Given the description of an element on the screen output the (x, y) to click on. 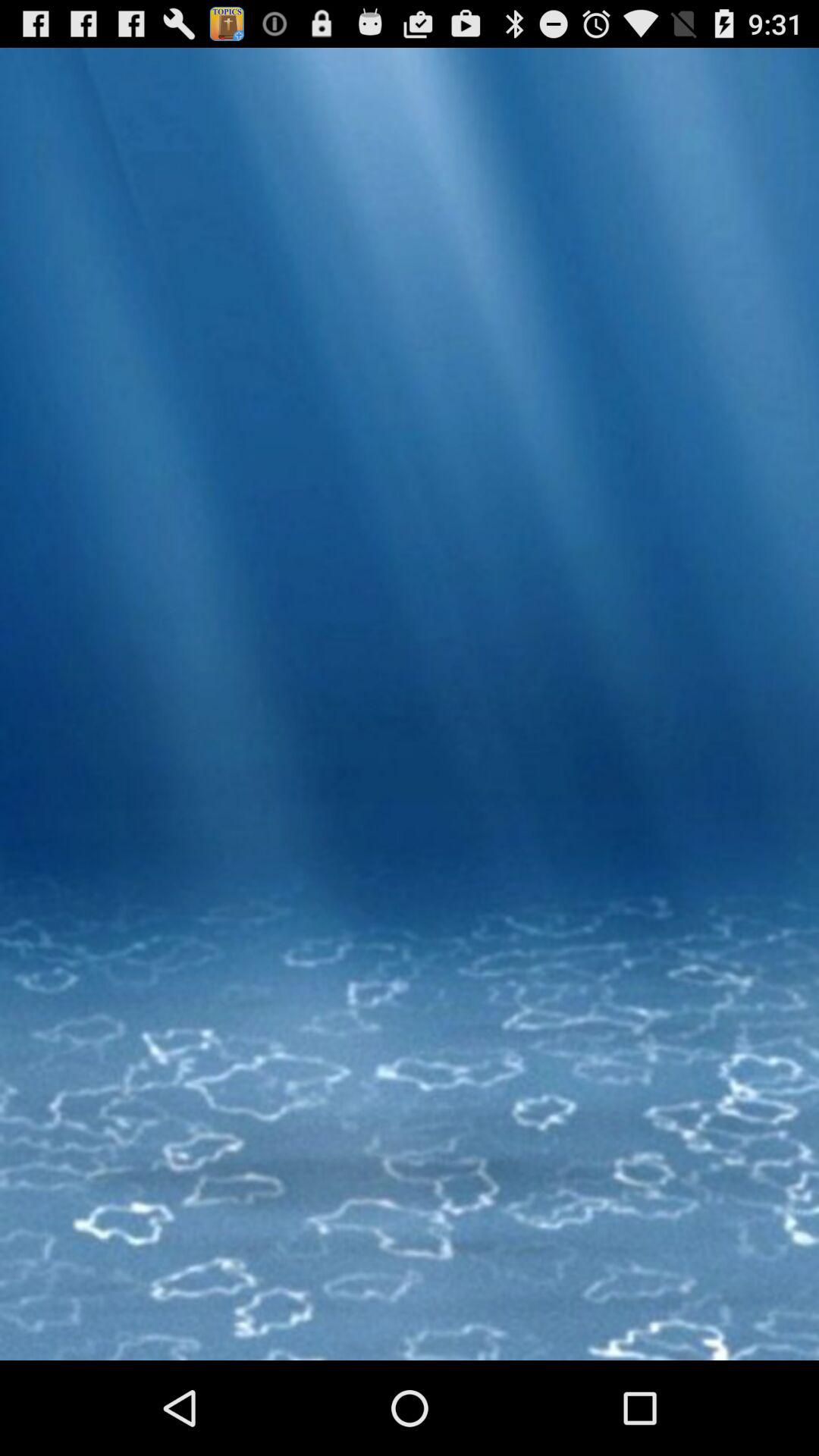
wallpaper window (409, 763)
